Given the description of an element on the screen output the (x, y) to click on. 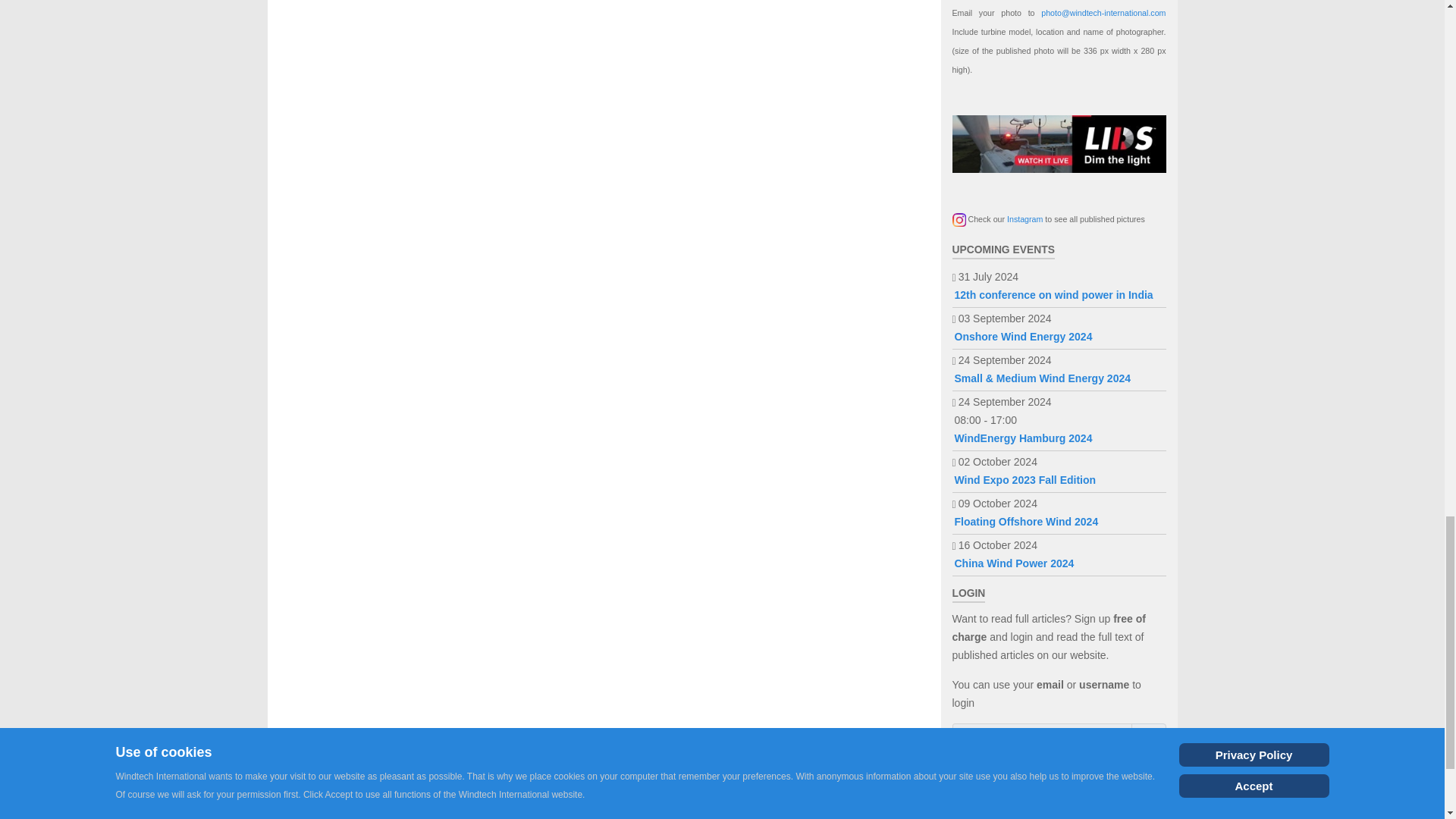
yes (957, 798)
Username (1148, 740)
